Given the description of an element on the screen output the (x, y) to click on. 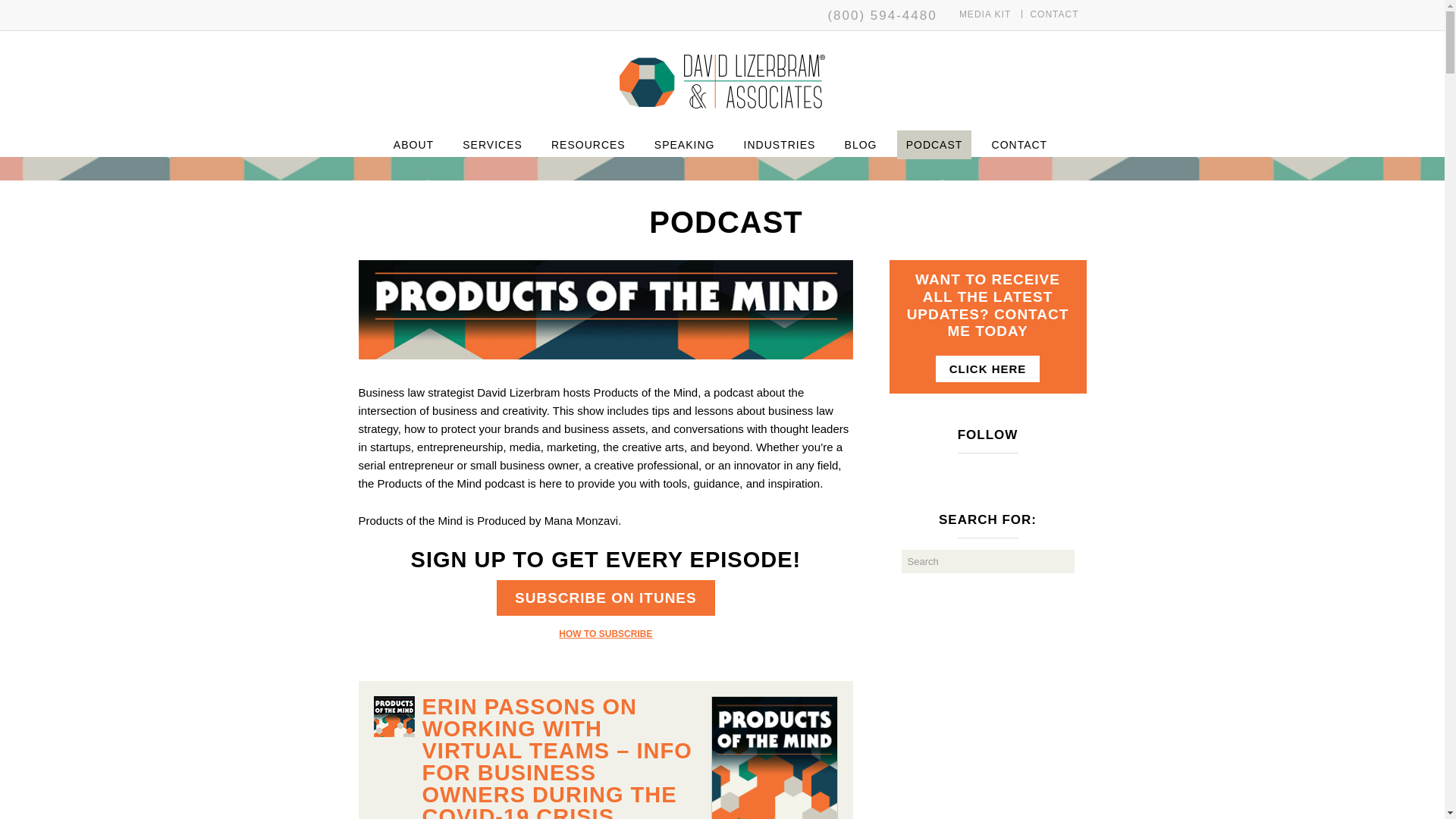
ABOUT (413, 144)
SPEAKING (684, 144)
RESOURCES (587, 144)
CONTACT (1053, 14)
MEDIA KIT (984, 14)
SERVICES (491, 144)
